Given the description of an element on the screen output the (x, y) to click on. 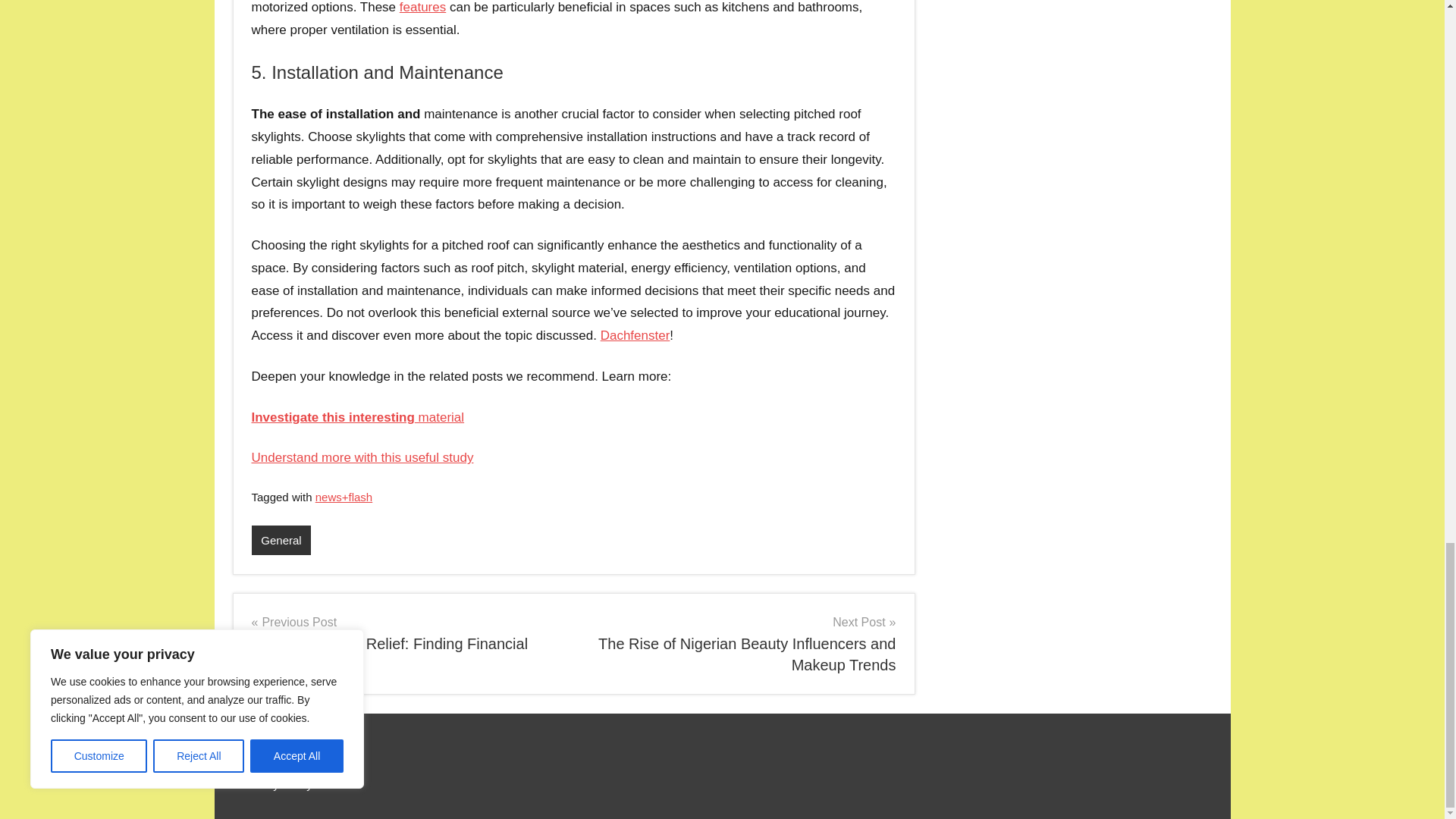
Understand more with this useful study (362, 457)
features (421, 7)
Dachfenster (634, 335)
Investigate this interesting material (357, 416)
General (281, 540)
